Given the description of an element on the screen output the (x, y) to click on. 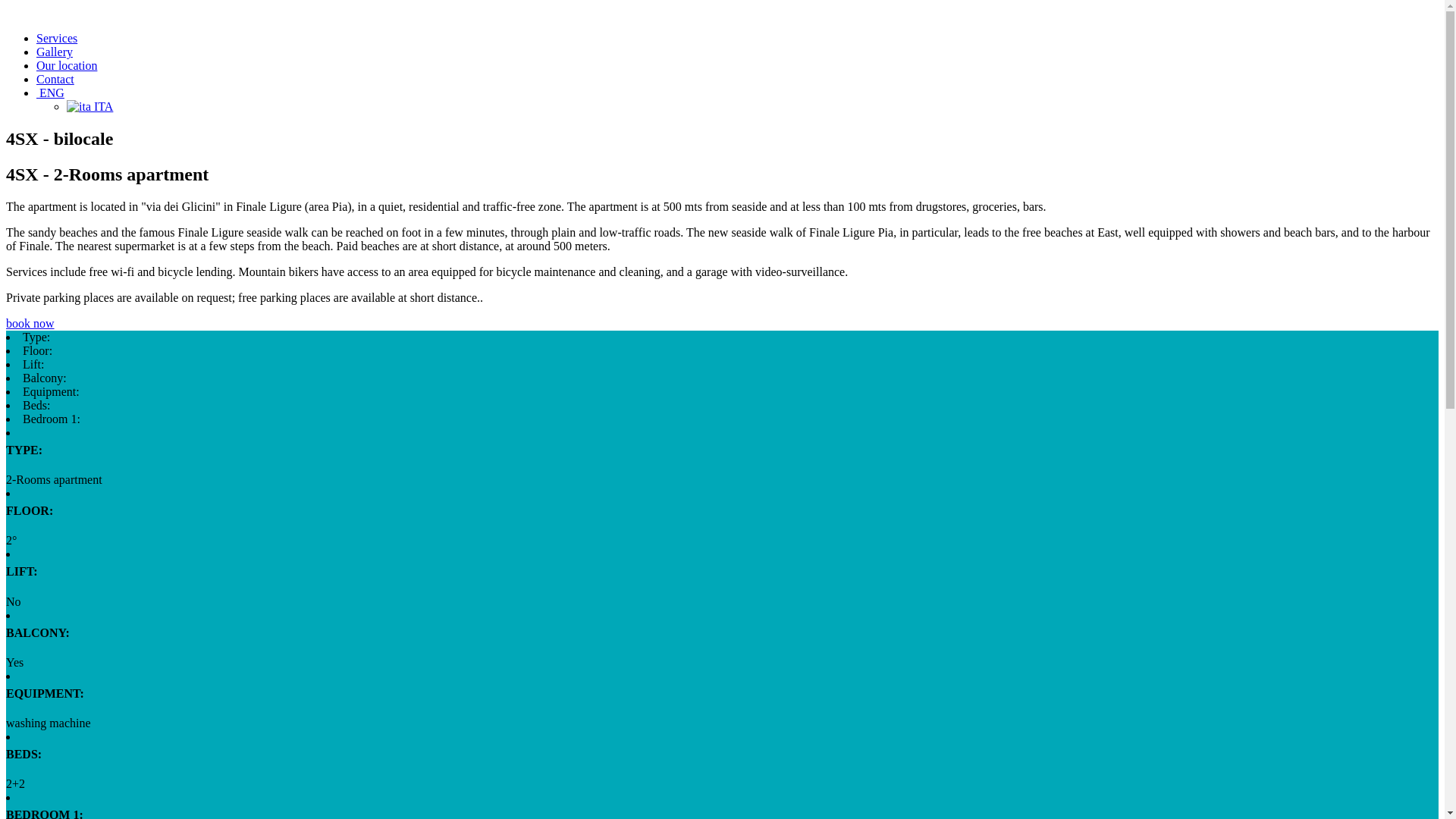
ITA (89, 106)
ENG (50, 92)
Gallery (54, 51)
Our location (66, 65)
Services (56, 38)
Contact (55, 78)
book now (30, 323)
